Given the description of an element on the screen output the (x, y) to click on. 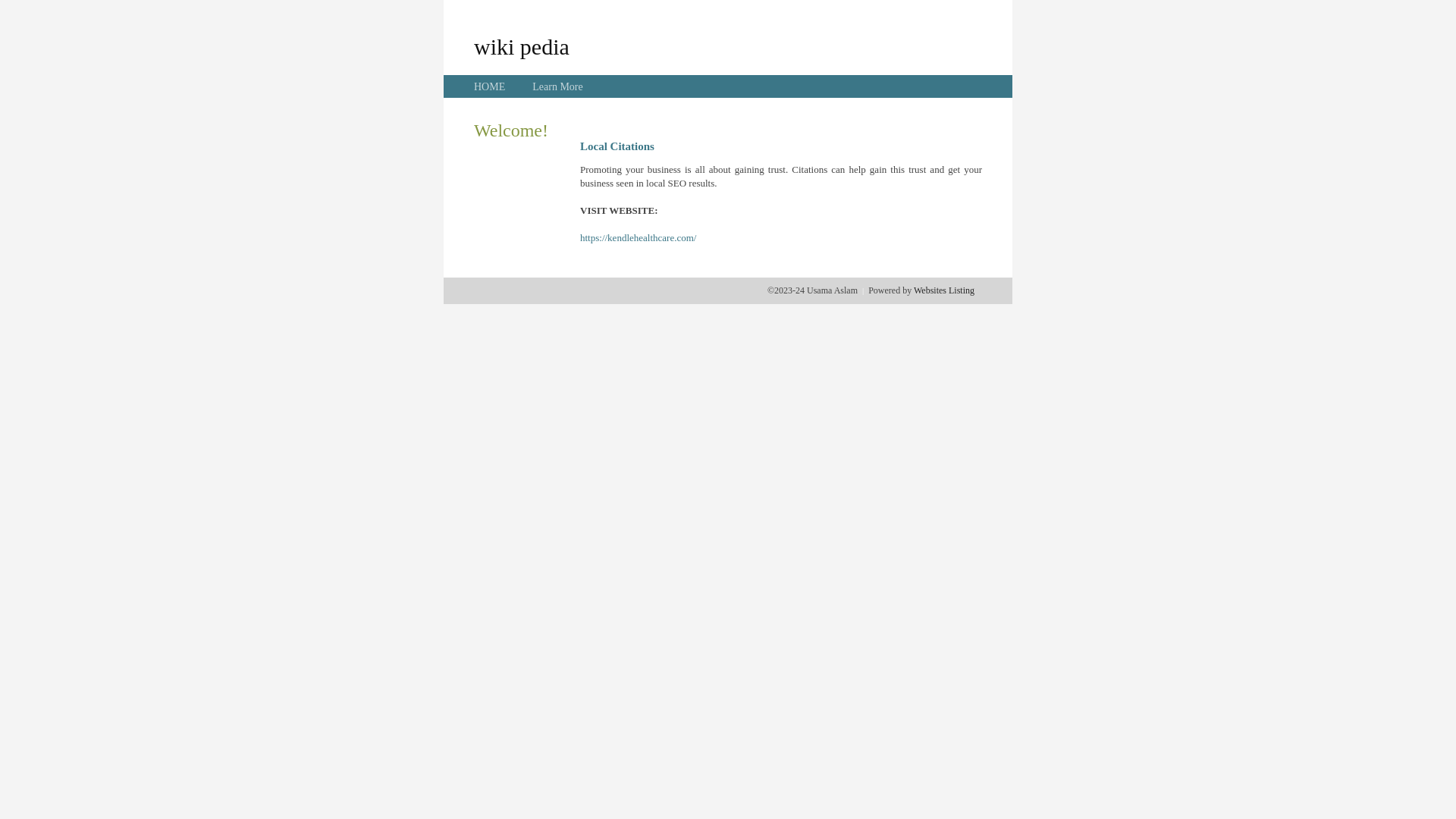
Websites Listing Element type: text (943, 290)
Learn More Element type: text (557, 86)
https://kendlehealthcare.com/ Element type: text (638, 237)
wiki pedia Element type: text (521, 46)
HOME Element type: text (489, 86)
